Given the description of an element on the screen output the (x, y) to click on. 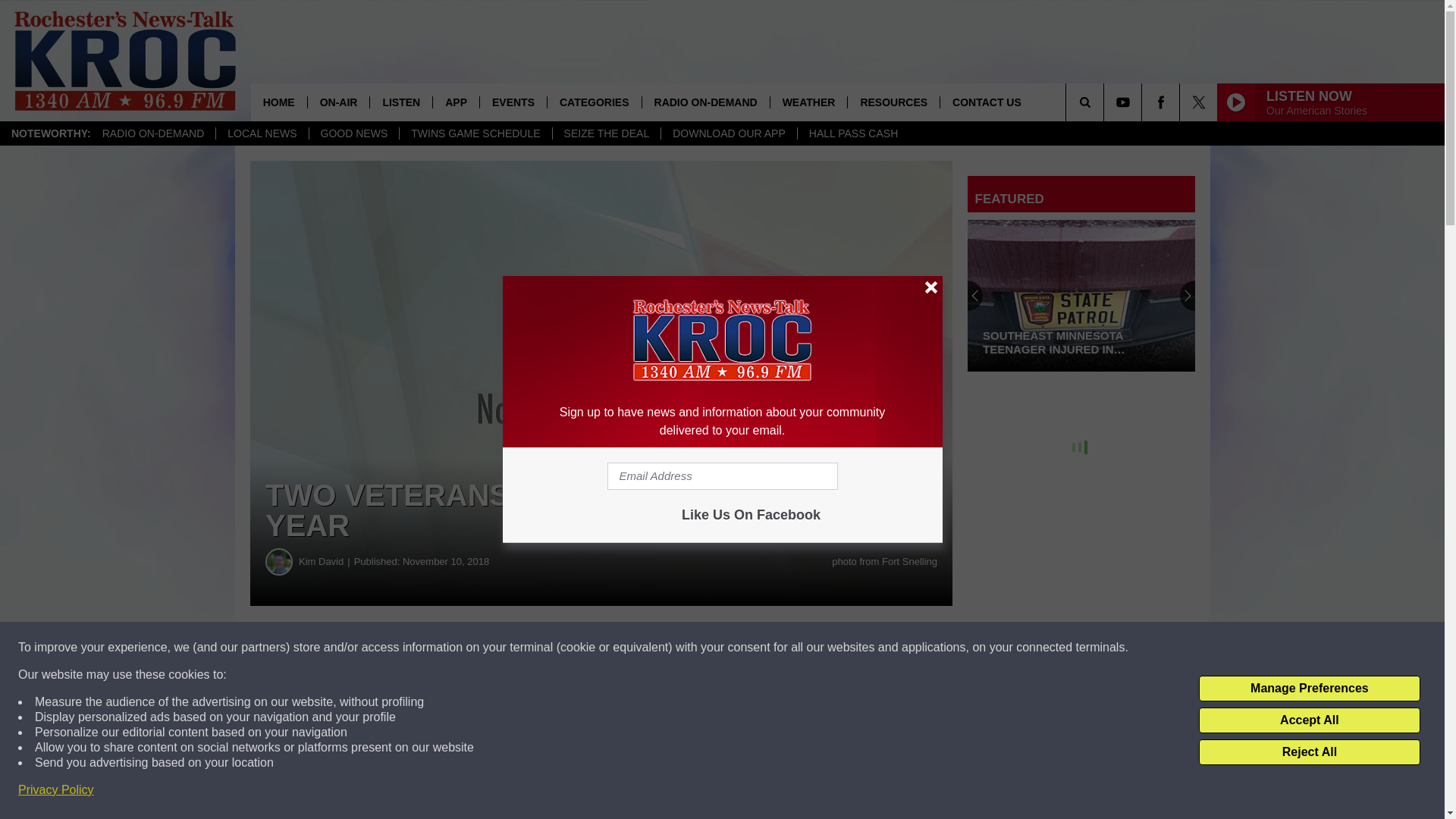
Email Address (722, 475)
GOOD NEWS (353, 133)
RADIO ON-DEMAND (152, 133)
TWINS GAME SCHEDULE (474, 133)
Privacy Policy (55, 789)
SEARCH (1106, 102)
Share on Twitter (741, 647)
ON-AIR (338, 102)
Accept All (1309, 720)
SEIZE THE DEAL (606, 133)
SEARCH (1106, 102)
Reject All (1309, 751)
Manage Preferences (1309, 688)
DOWNLOAD OUR APP (728, 133)
LISTEN (400, 102)
